Given the description of an element on the screen output the (x, y) to click on. 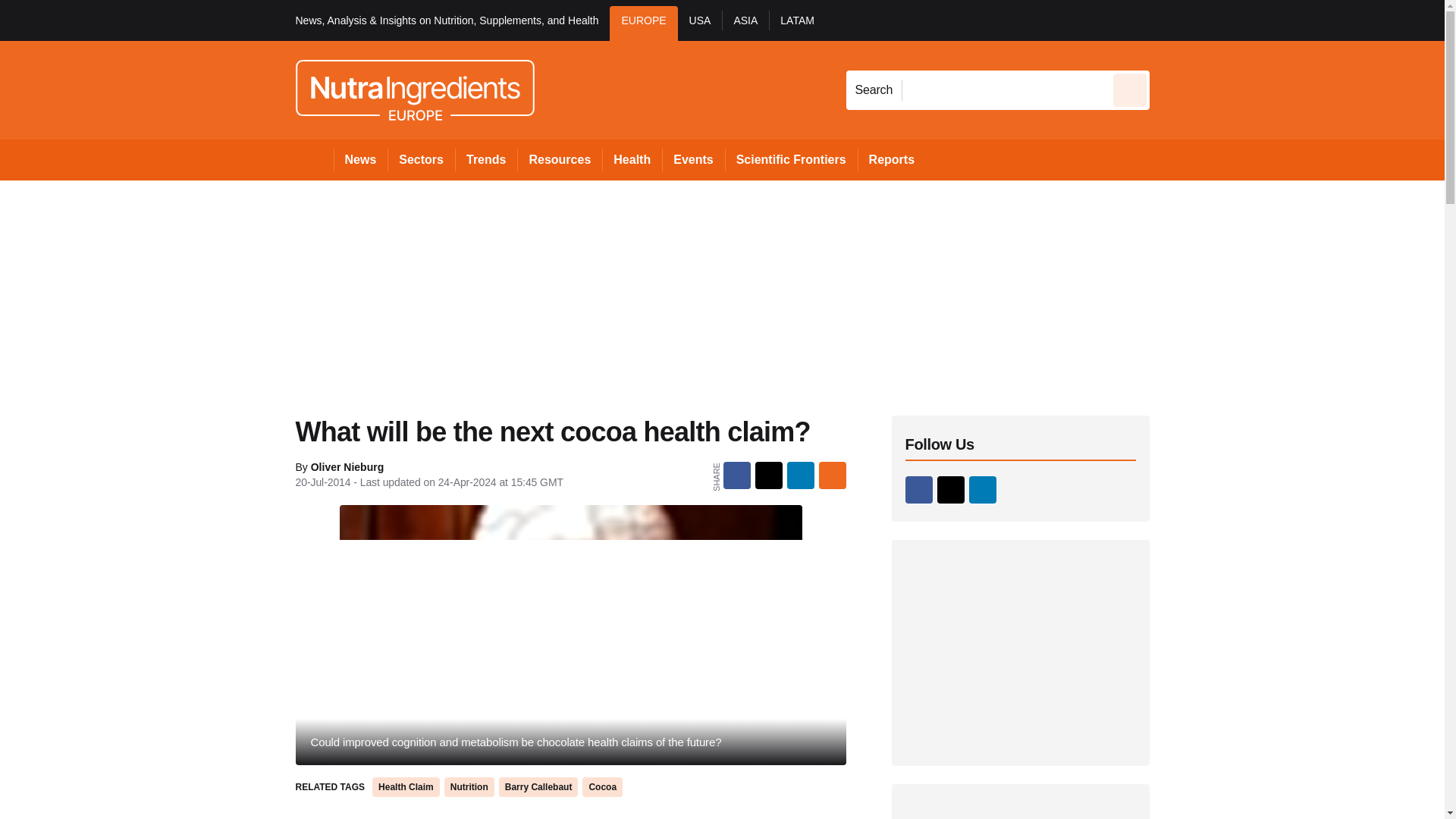
EUROPE (643, 22)
USA (700, 22)
News (360, 159)
SUBSCRIBE (1318, 20)
Sign in (1171, 20)
Sign out (1174, 20)
Register (1231, 20)
My account (1256, 20)
LATAM (796, 22)
Sectors (420, 159)
NutraIngredients Europe (414, 89)
3rd party ad content (1020, 810)
Send (1129, 90)
ASIA (745, 22)
Send (1129, 89)
